Given the description of an element on the screen output the (x, y) to click on. 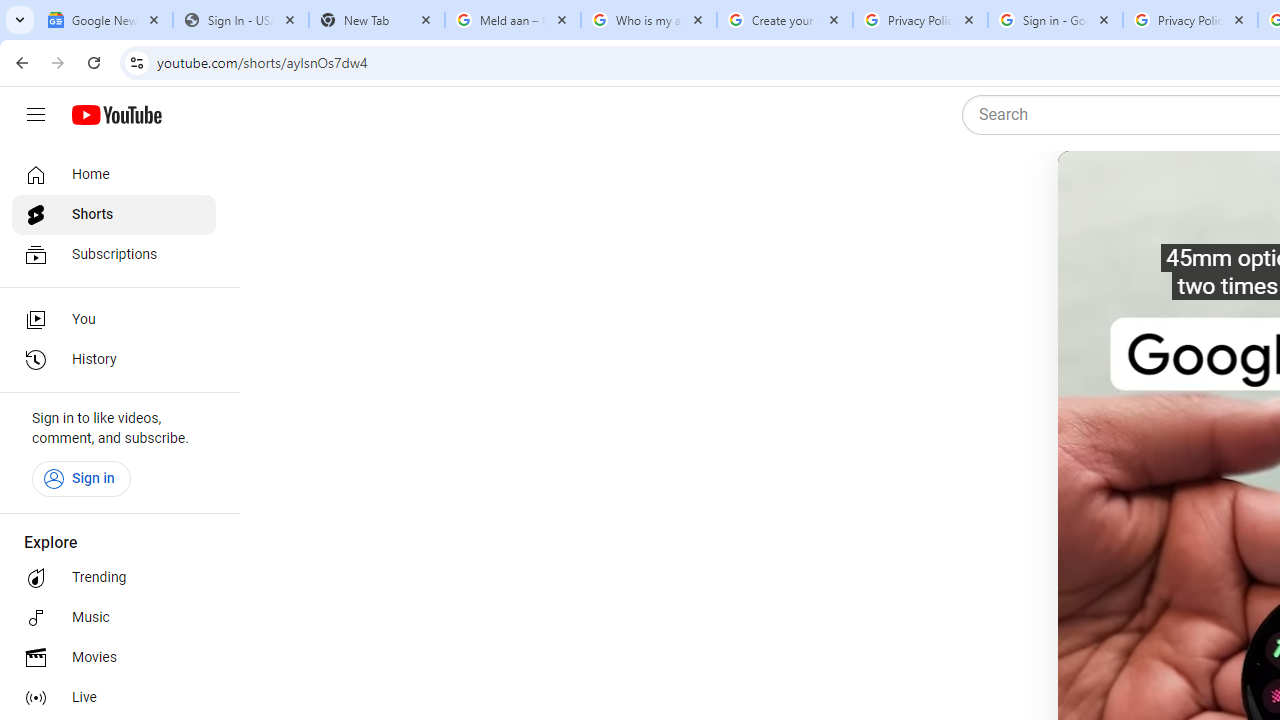
Who is my administrator? - Google Account Help (648, 20)
Movies (113, 657)
New Tab (376, 20)
Live (113, 697)
Sign In - USA TODAY (240, 20)
Create your Google Account (784, 20)
Subscriptions (113, 254)
History (113, 359)
